Given the description of an element on the screen output the (x, y) to click on. 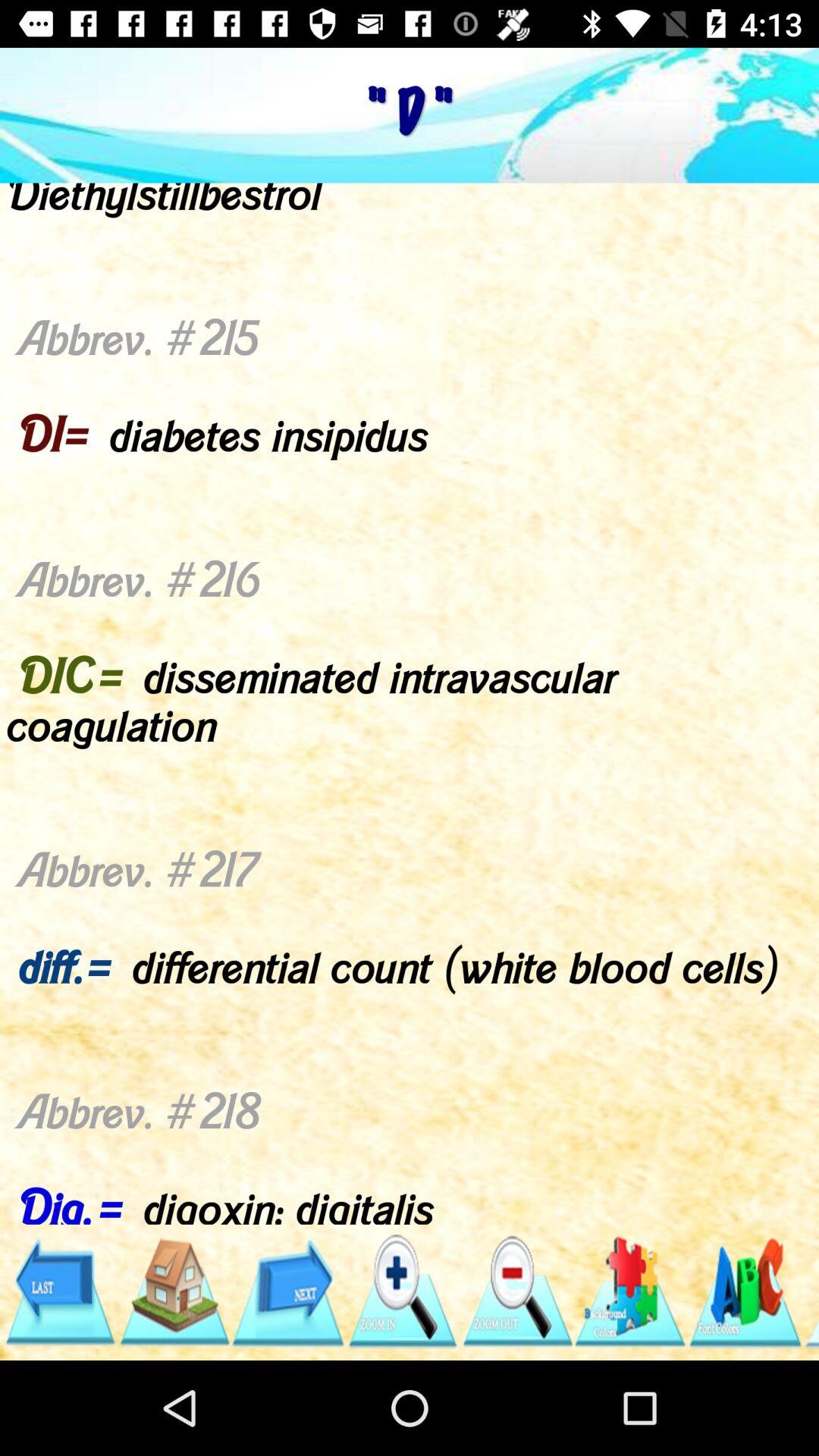
go forward (287, 1291)
